Given the description of an element on the screen output the (x, y) to click on. 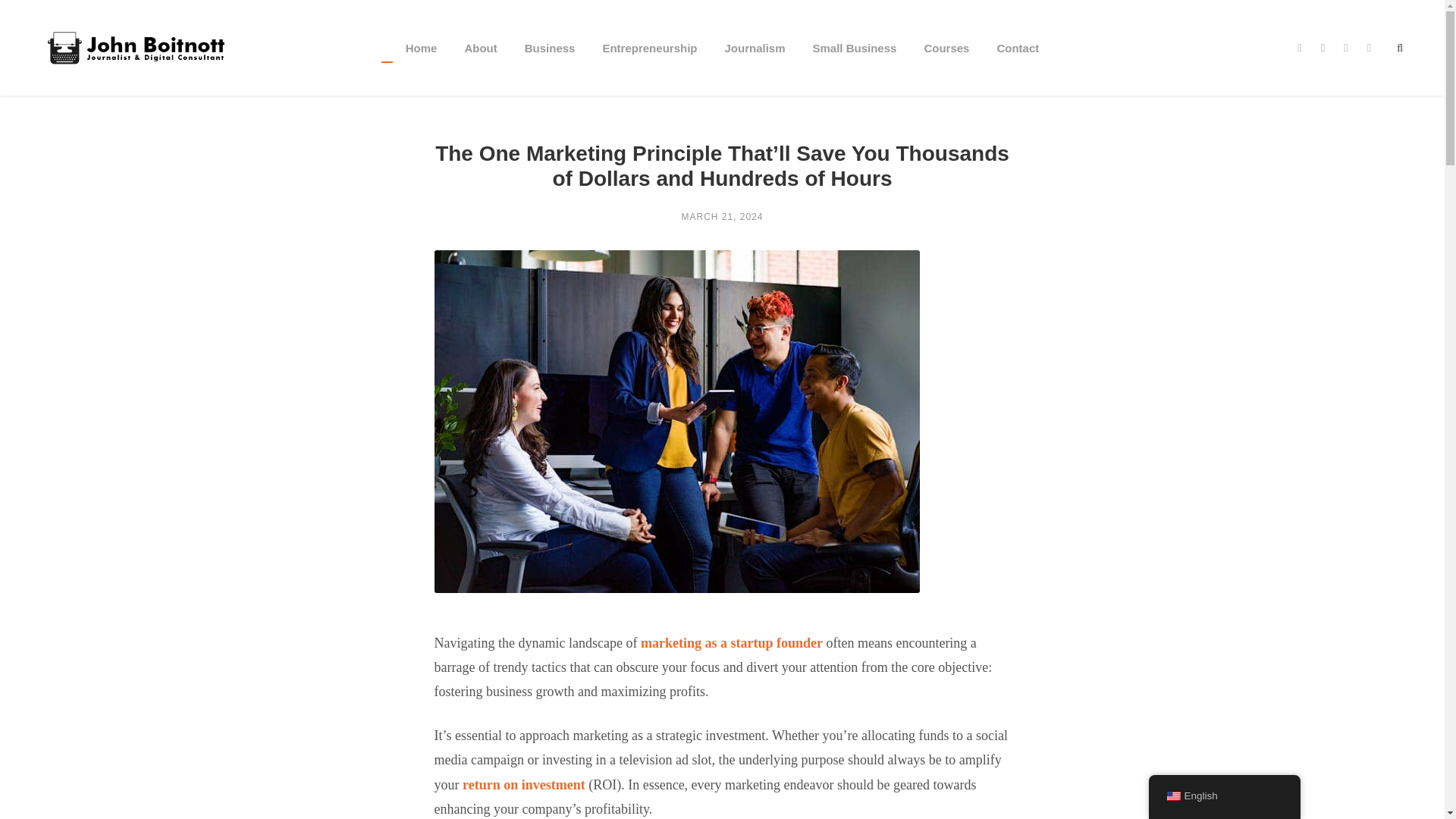
Business (549, 66)
marketing as a startup founder (731, 642)
MARCH 21, 2024 (721, 216)
Journalism (753, 66)
Entrepreneurship (649, 66)
return on investment (524, 784)
Small Business (854, 66)
